Given the description of an element on the screen output the (x, y) to click on. 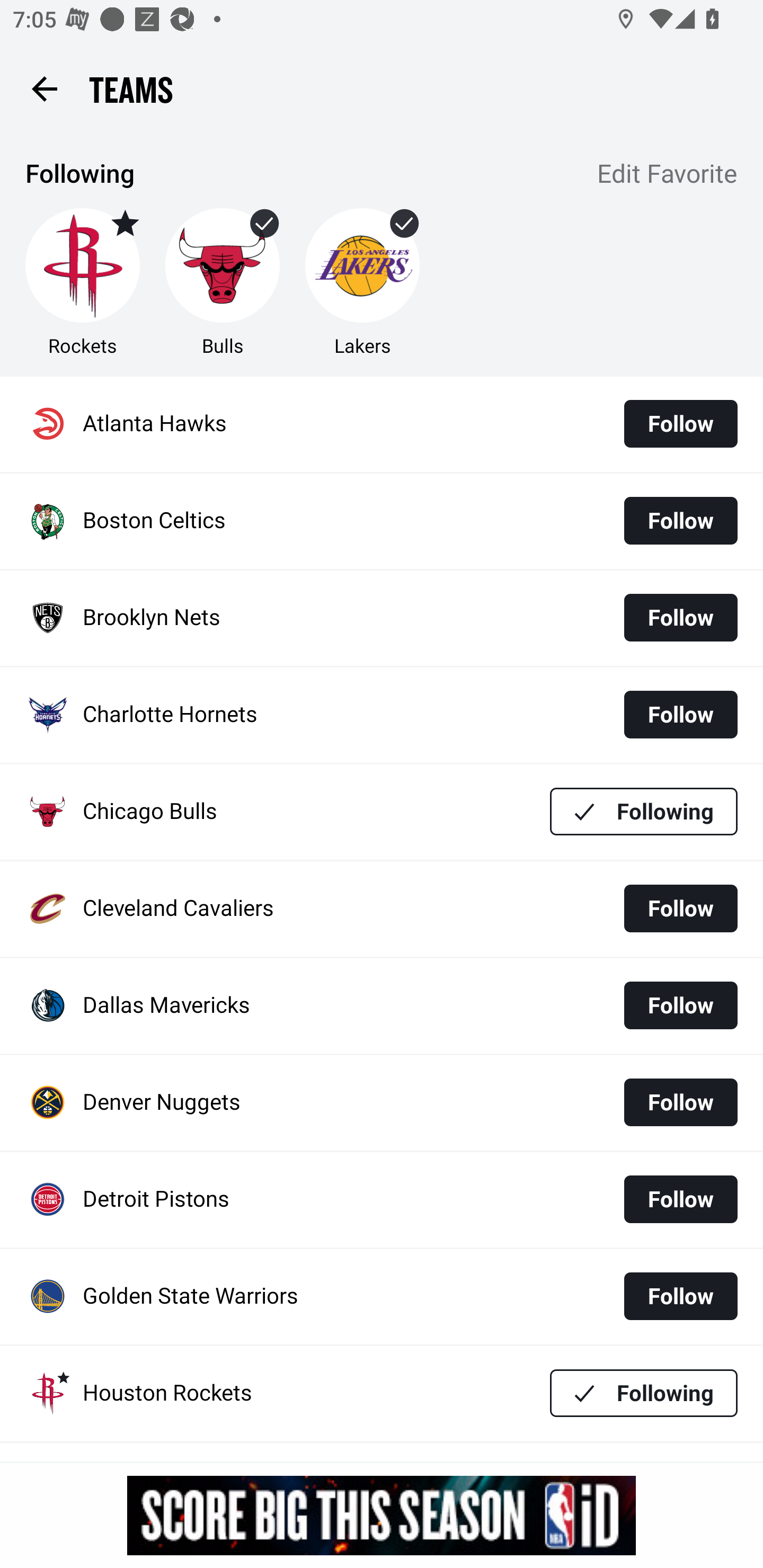
Back button (44, 88)
Edit Favorite (667, 175)
Atlanta Hawks Follow (381, 423)
Follow (680, 423)
Boston Celtics Follow (381, 521)
Follow (680, 520)
Brooklyn Nets Follow (381, 618)
Follow (680, 617)
Charlotte Hornets Follow (381, 714)
Follow (680, 713)
Chicago Bulls Following (381, 812)
Following (643, 811)
Cleveland Cavaliers Follow (381, 908)
Follow (680, 908)
Dallas Mavericks Follow (381, 1005)
Follow (680, 1005)
Denver Nuggets Follow (381, 1102)
Follow (680, 1101)
Detroit Pistons Follow (381, 1200)
Follow (680, 1199)
Golden State Warriors Follow (381, 1296)
Follow (680, 1295)
Houston Rockets Following (381, 1392)
Following (643, 1392)
g5nqqygr7owph (381, 1515)
